Given the description of an element on the screen output the (x, y) to click on. 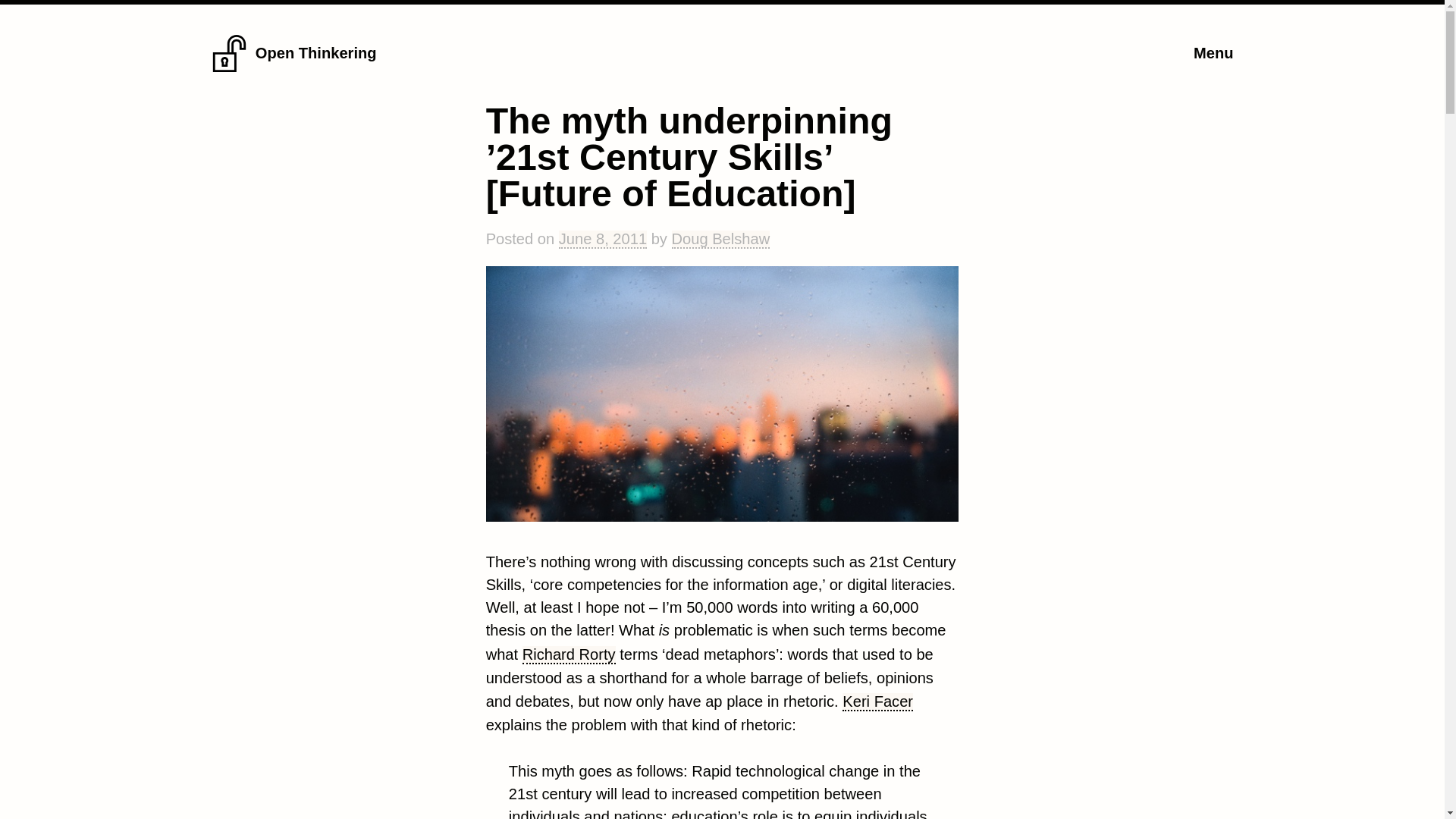
Menu (1213, 52)
Open Thinkering (316, 53)
Home (229, 66)
June 8, 2011 (602, 239)
Keri Facer (877, 701)
Rainbow over Tokyo at sunset   (722, 393)
Richard Rorty (568, 655)
Doug Belshaw (720, 239)
